Given the description of an element on the screen output the (x, y) to click on. 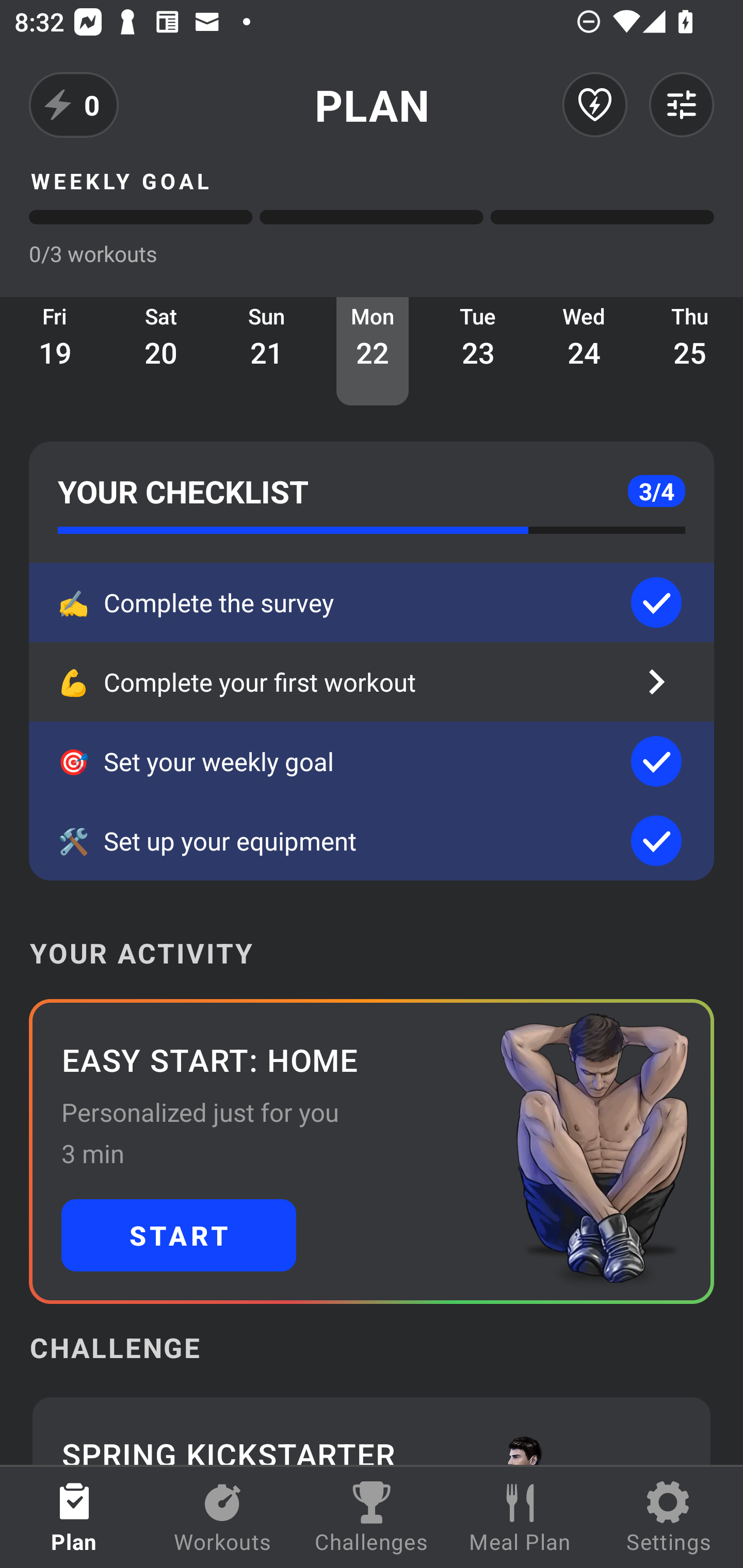
0 (73, 104)
Fri 19 (55, 351)
Sat 20 (160, 351)
Sun 21 (266, 351)
Mon 22 (372, 351)
Tue 23 (478, 351)
Wed 24 (584, 351)
Thu 25 (690, 351)
💪 Complete your first workout (371, 681)
START (178, 1235)
 Workouts  (222, 1517)
 Challenges  (371, 1517)
 Meal Plan  (519, 1517)
 Settings  (668, 1517)
